Given the description of an element on the screen output the (x, y) to click on. 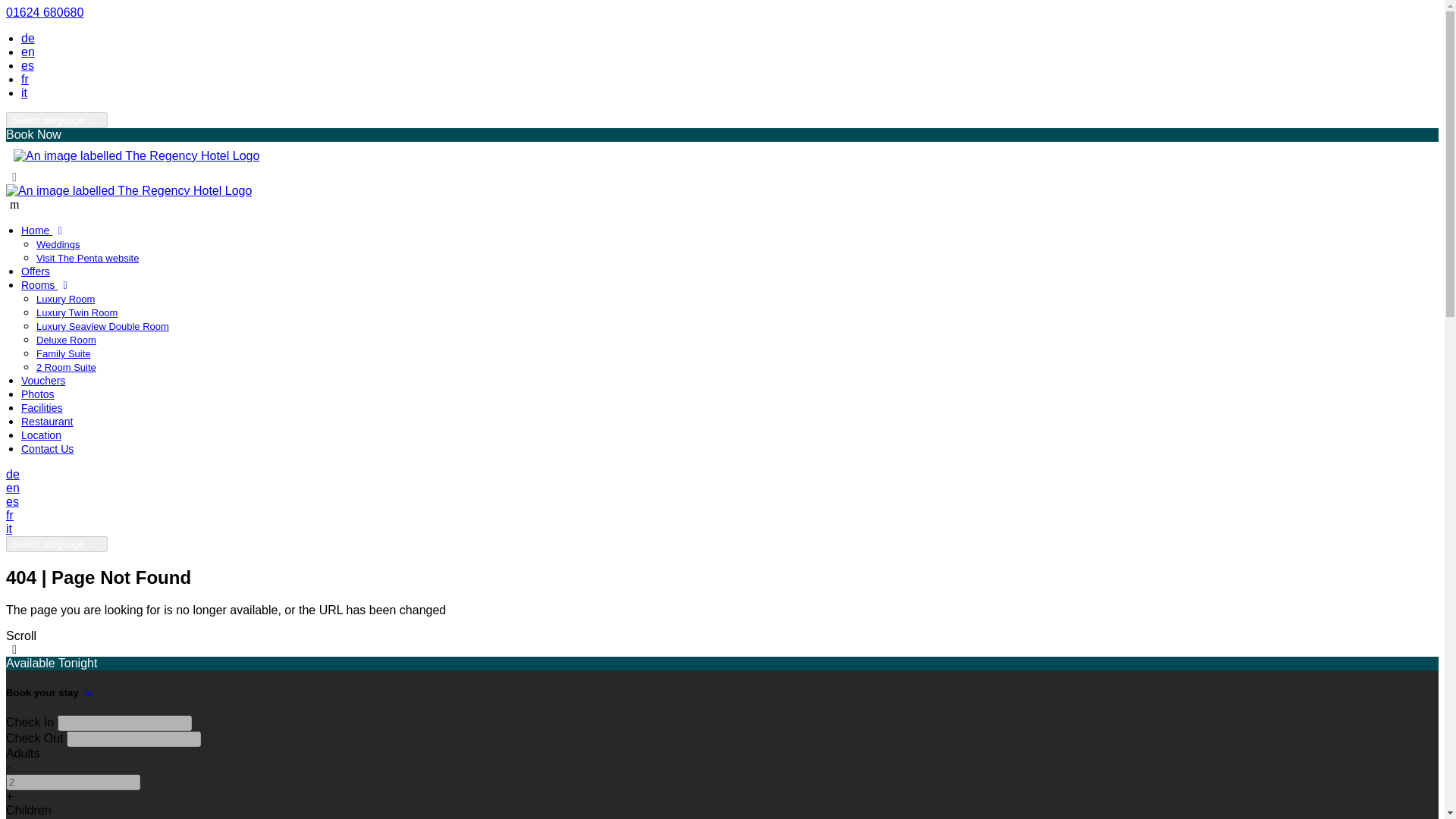
Photos (38, 394)
Luxury Seaview Double Room (102, 326)
Rooms (46, 285)
2 Room Suite (66, 367)
Visit The Penta website (87, 257)
en (27, 51)
01624 680680 (43, 11)
Vouchers (43, 380)
Family Suite (63, 353)
Select language (56, 119)
2 (72, 781)
Luxury Room (65, 298)
Weddings (58, 244)
Select language (56, 544)
de (12, 473)
